Given the description of an element on the screen output the (x, y) to click on. 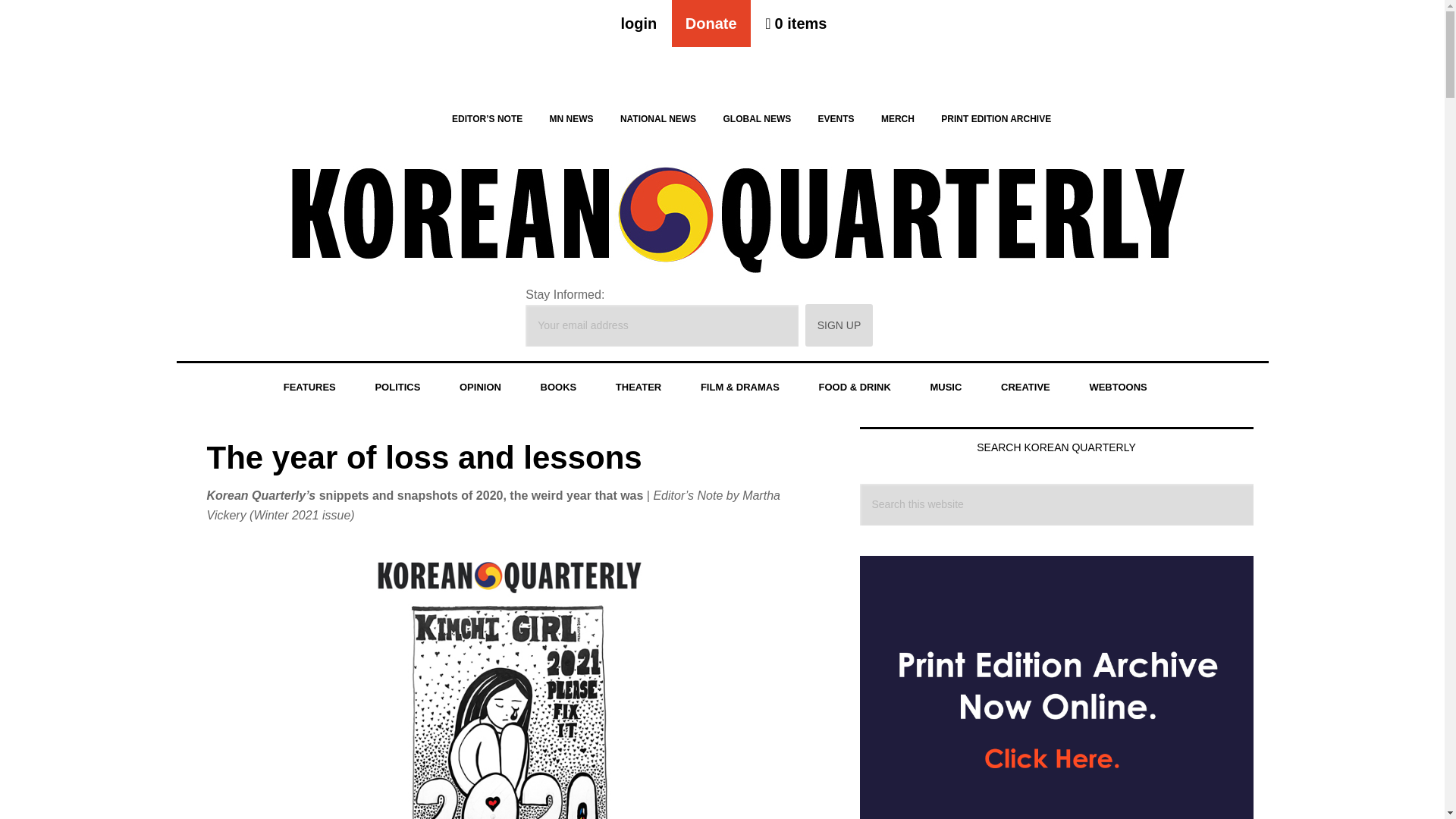
The year of loss and lessons (424, 457)
FEATURES (309, 387)
MERCH (897, 118)
NATIONAL NEWS (658, 118)
GLOBAL NEWS (757, 118)
MUSIC (945, 387)
BOOKS (558, 387)
MN NEWS (571, 118)
THEATER (638, 387)
